Given the description of an element on the screen output the (x, y) to click on. 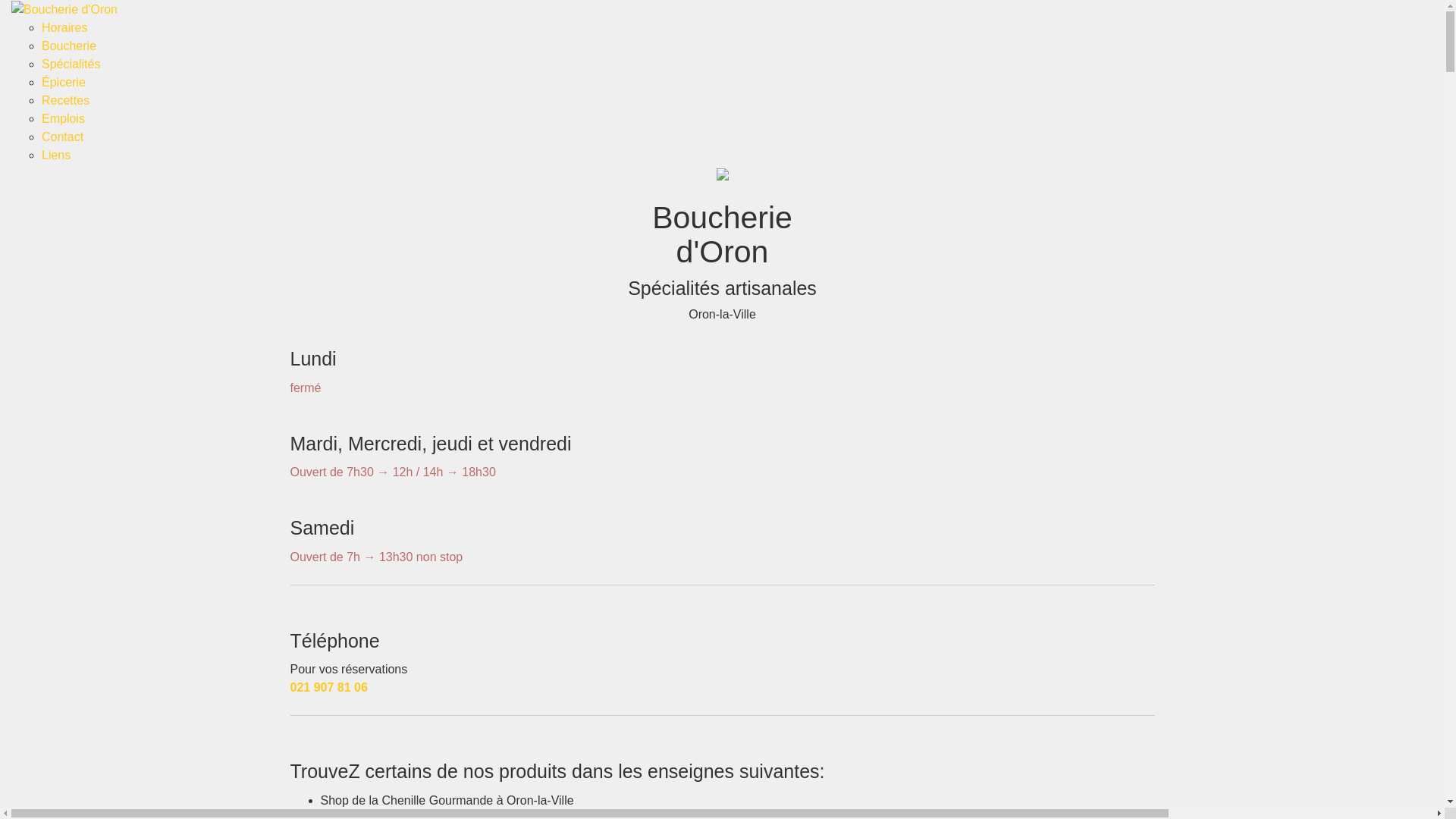
Recettes Element type: text (65, 100)
Horaires Element type: text (64, 27)
Boucherie Element type: text (68, 45)
Liens Element type: text (55, 154)
021 907 81 06 Element type: text (328, 686)
Emplois Element type: text (62, 118)
Contact Element type: text (62, 136)
